Given the description of an element on the screen output the (x, y) to click on. 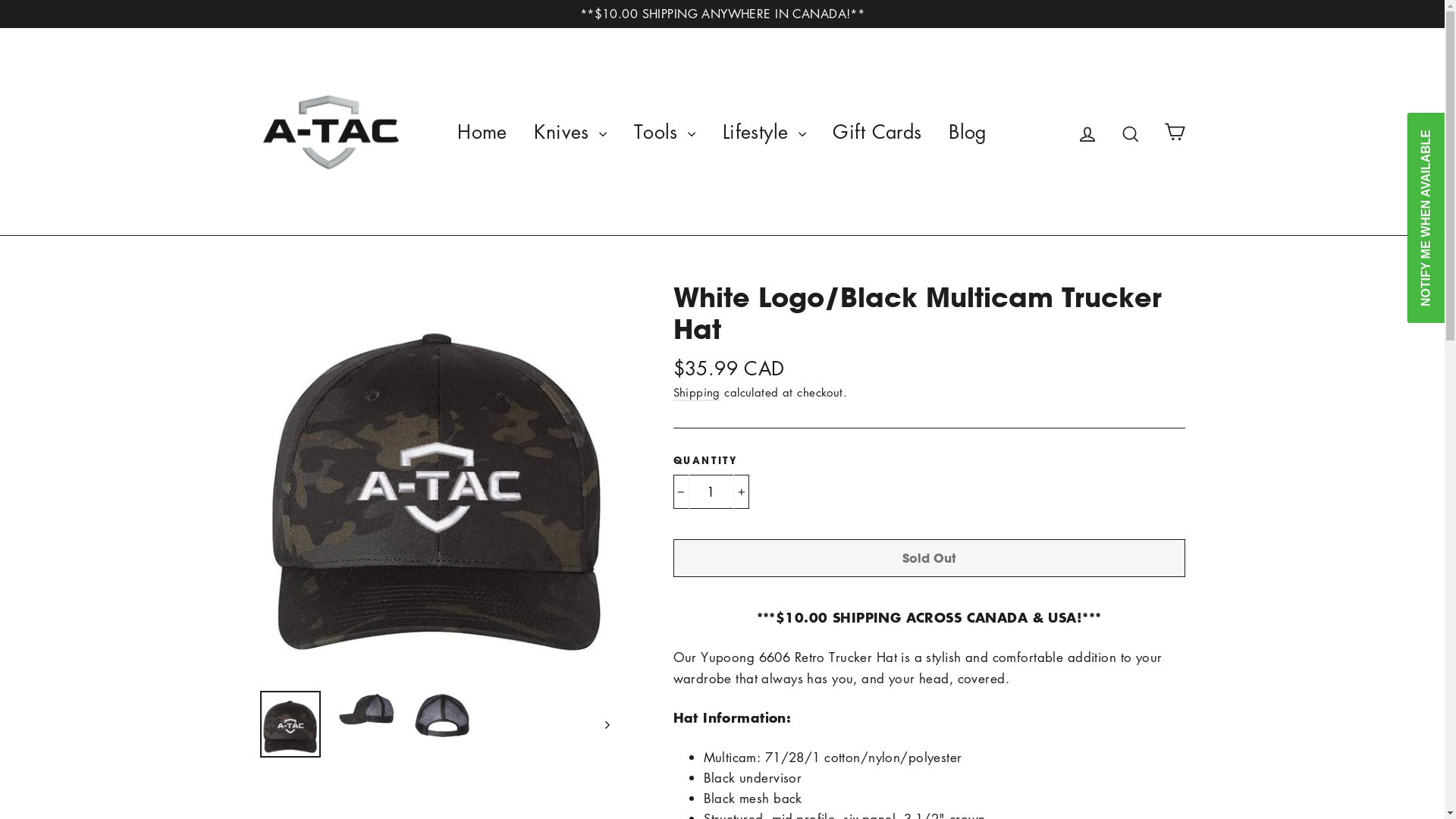
Skip to content Element type: text (0, 0)
Log in Element type: text (1087, 131)
Cart Element type: text (1173, 131)
+ Element type: text (740, 491)
Next Element type: text (606, 723)
Blog Element type: text (967, 131)
Shipping Element type: text (696, 392)
Gift Cards Element type: text (876, 131)
Search Element type: text (1130, 131)
Knives Element type: text (570, 131)
Home Element type: text (481, 131)
Lifestyle Element type: text (764, 131)
Sold Out Element type: text (929, 558)
Tools Element type: text (664, 131)
